Given the description of an element on the screen output the (x, y) to click on. 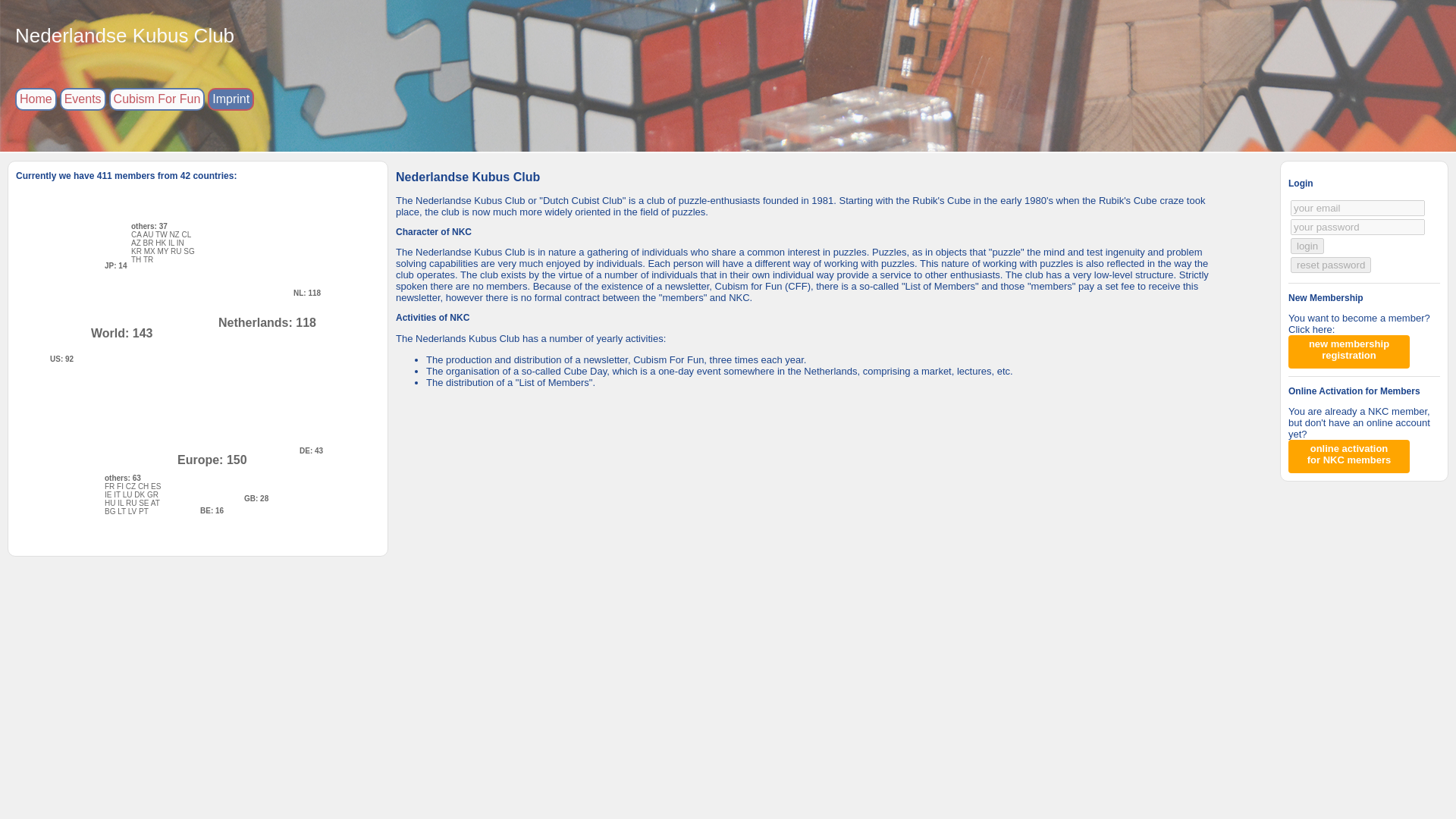
login (1306, 245)
Home (35, 98)
Imprint (230, 98)
Events (82, 98)
Cubism For Fun (157, 98)
new membership registration (1348, 349)
login (1306, 245)
reset password (1330, 264)
reset password (1349, 454)
